Given the description of an element on the screen output the (x, y) to click on. 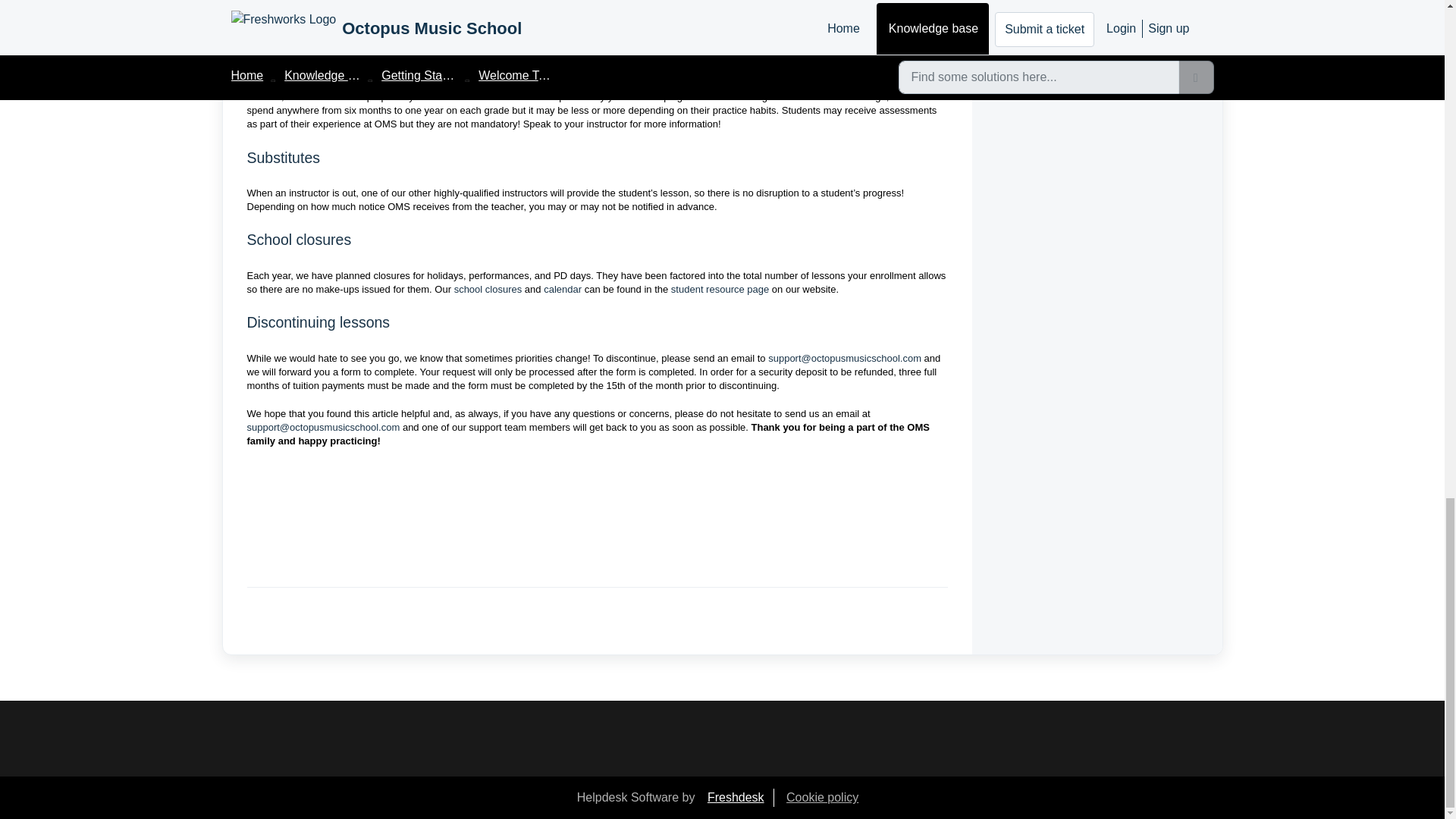
calendar (561, 288)
school closures (488, 288)
student resource page (719, 288)
